Given the description of an element on the screen output the (x, y) to click on. 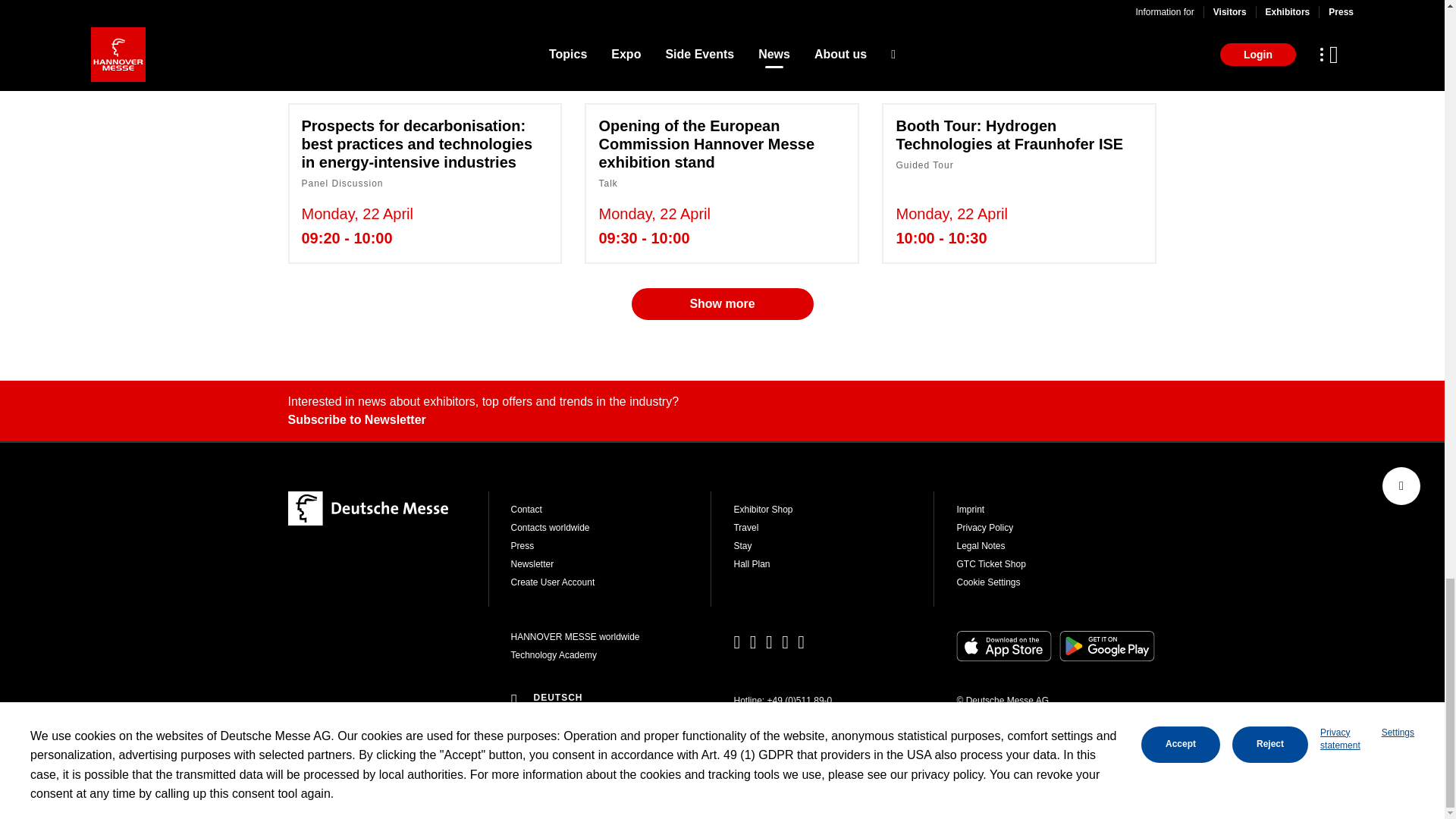
Show more (721, 304)
